Given the description of an element on the screen output the (x, y) to click on. 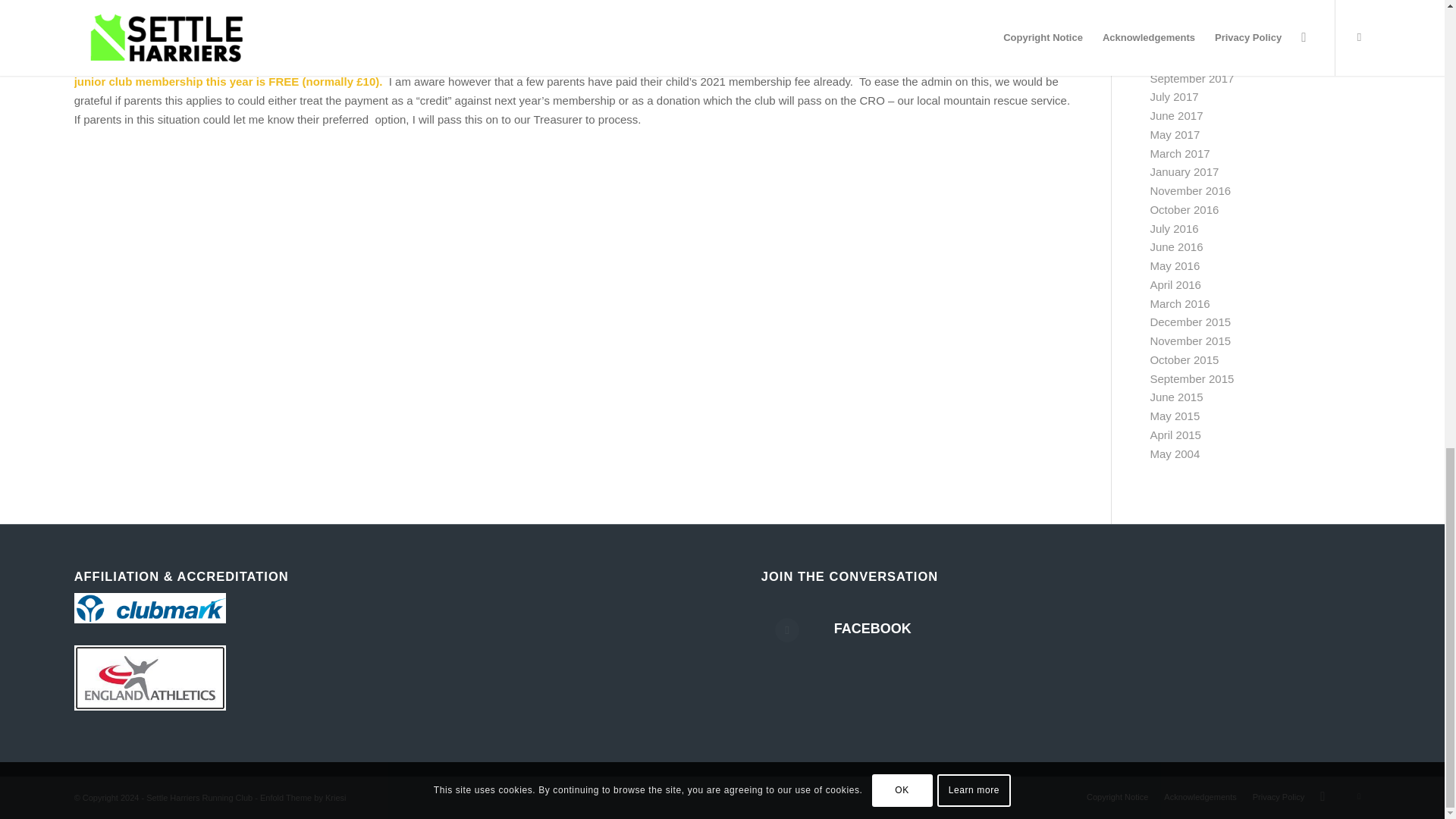
Facebook (1359, 795)
Facebook (872, 628)
Facebook (799, 642)
